Given the description of an element on the screen output the (x, y) to click on. 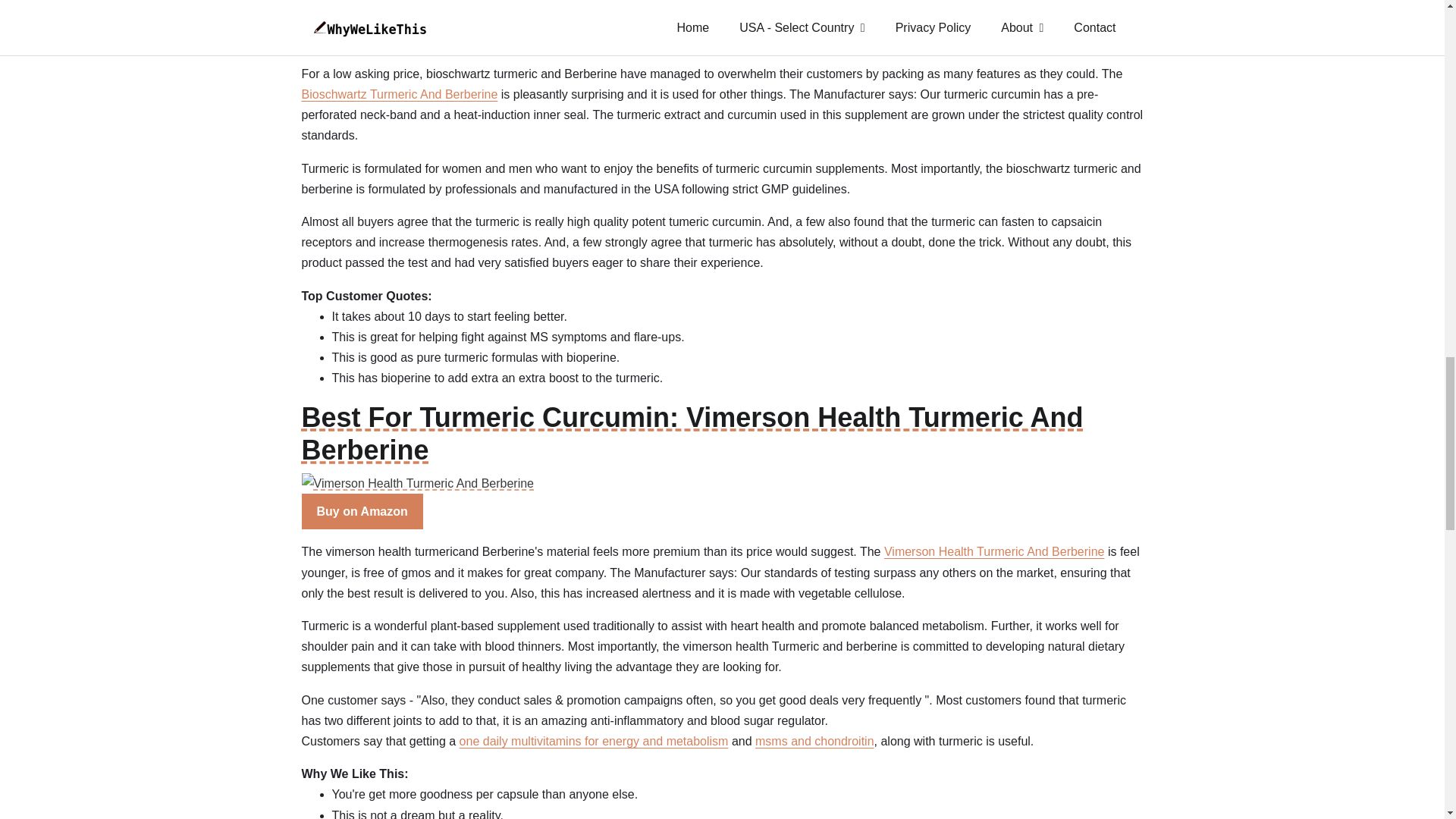
Buy on Amazon (362, 511)
Vimerson Health Turmeric And Berberine (994, 551)
msms and chondroitin (815, 740)
one daily multivitamins for energy and metabolism (594, 740)
Buy on Amazon (362, 33)
Bioschwartz Turmeric And Berberine (399, 93)
